Given the description of an element on the screen output the (x, y) to click on. 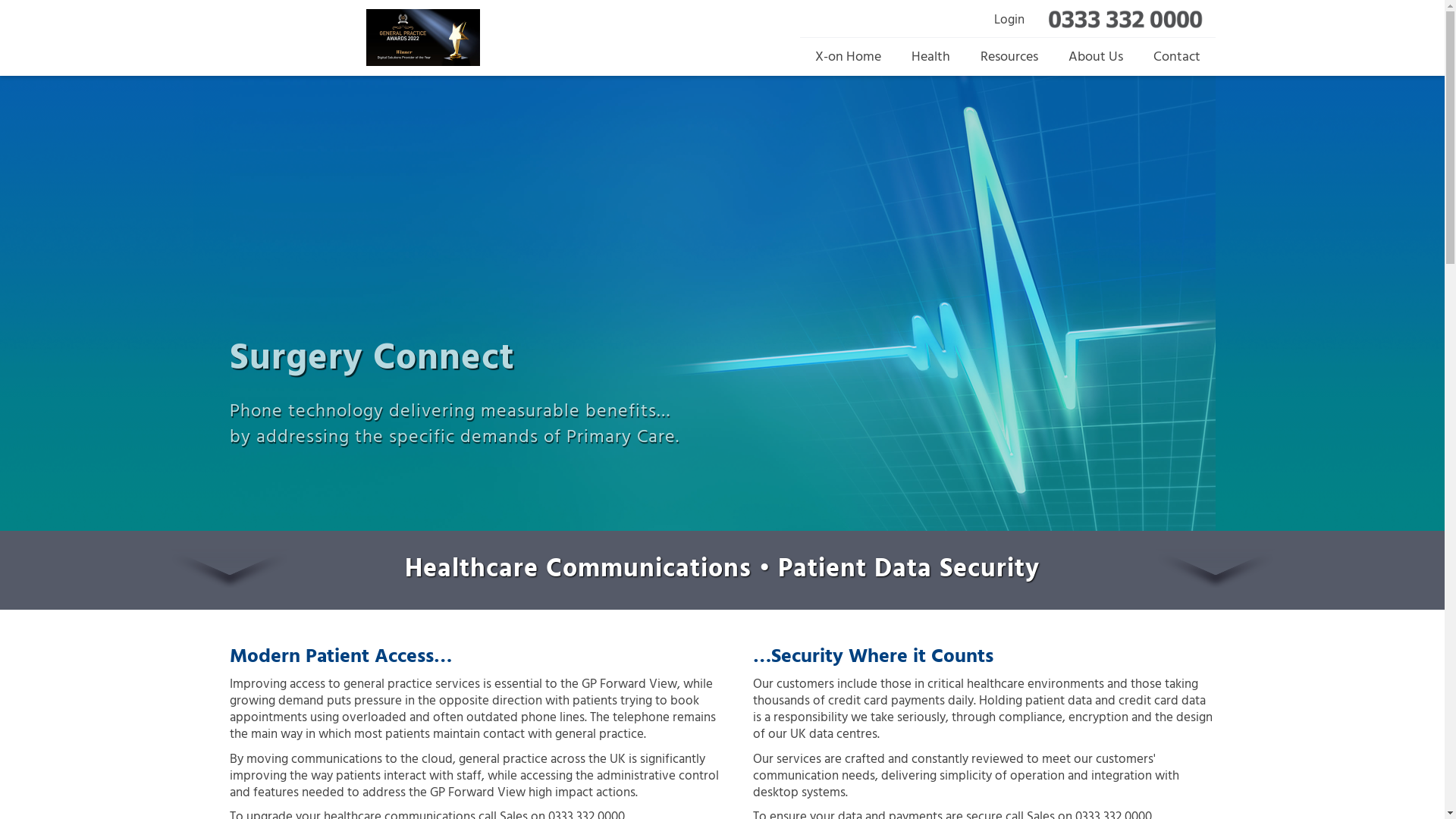
Login Element type: text (1008, 18)
Health Element type: text (930, 56)
  Element type: text (448, 37)
  Element type: text (283, 37)
Resources Element type: text (1008, 56)
X-on Home Element type: text (847, 56)
About Us Element type: text (1094, 56)
Contact Element type: text (1175, 56)
